Given the description of an element on the screen output the (x, y) to click on. 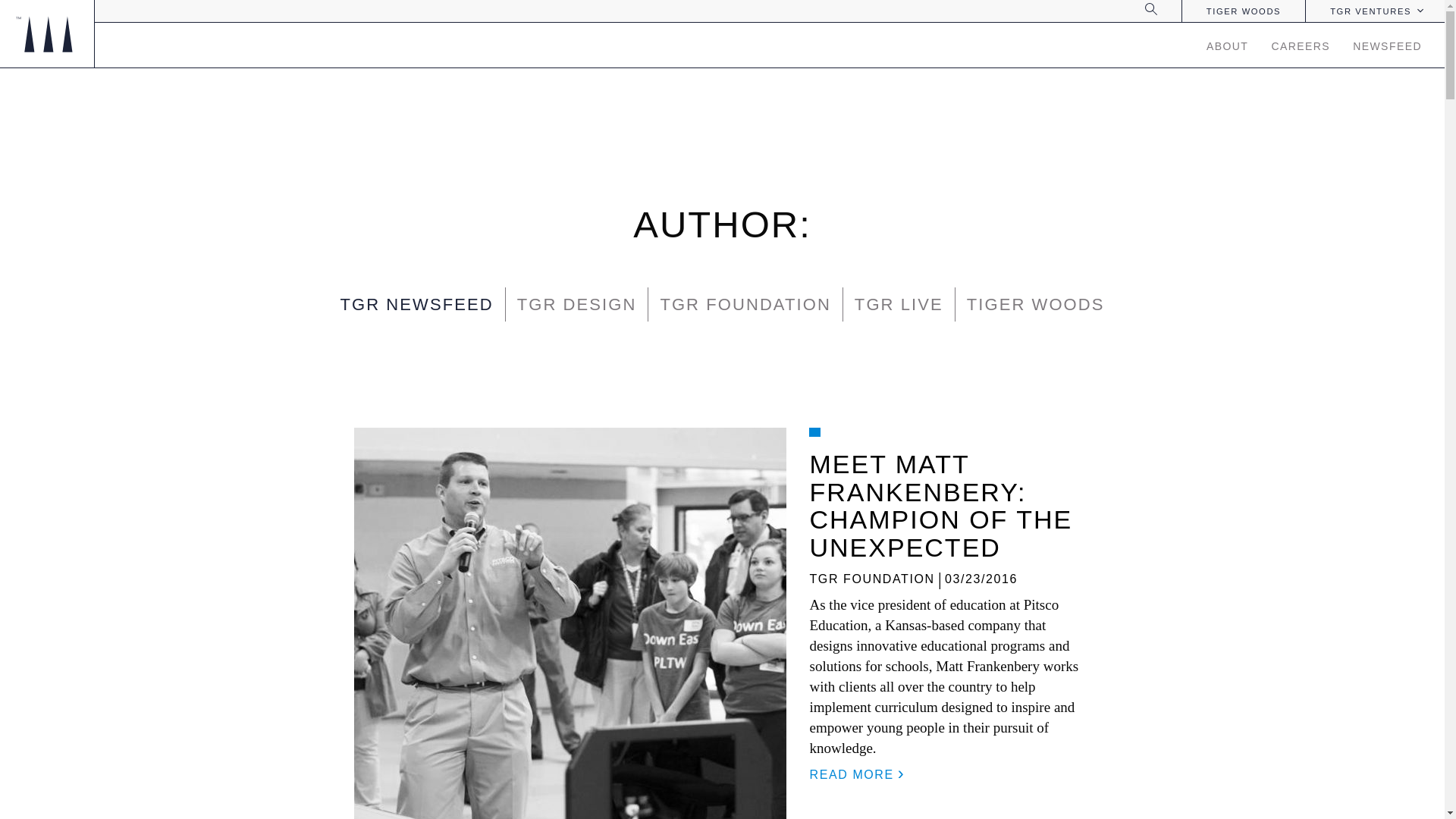
TGR NEWSFEED (416, 304)
TGR FOUNDATION (871, 578)
READ MORE (855, 774)
TGR LIVE (898, 304)
MEET MATT FRANKENBERY: CHAMPION OF THE UNEXPECTED (940, 505)
TIGER WOODS (1035, 304)
CAREERS (1300, 44)
Newsfeed (416, 304)
TGR DESIGN (576, 304)
